Given the description of an element on the screen output the (x, y) to click on. 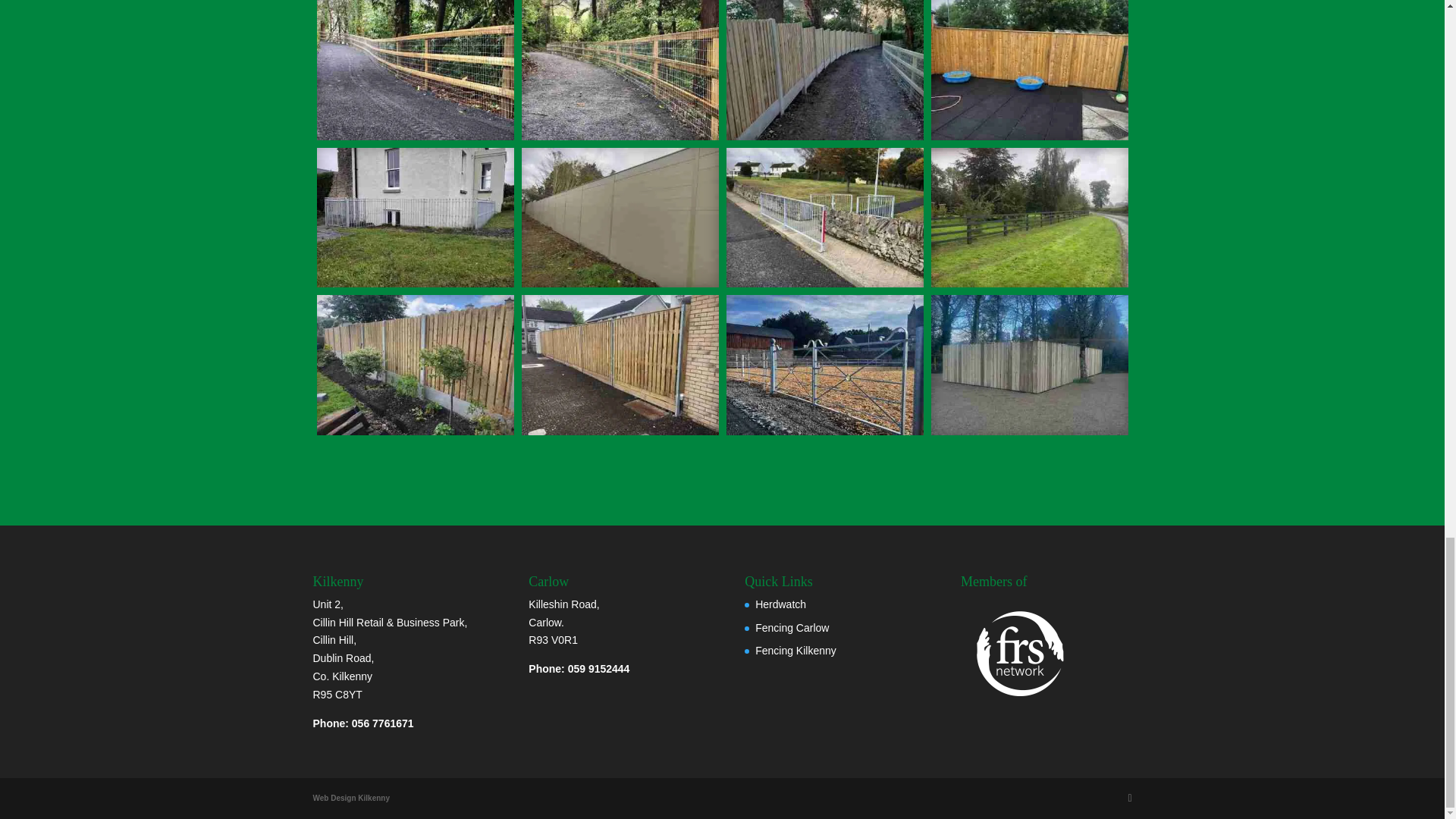
2b1ed304-bde9-4a53-9237-0dd572089ae8 (620, 136)
7a90d930-f03f-487e-8b4f-ef3f9b13244e (824, 136)
76cc1f97-7bec-4c5b-9f09-b08bba4df3f7 (415, 136)
